Given the description of an element on the screen output the (x, y) to click on. 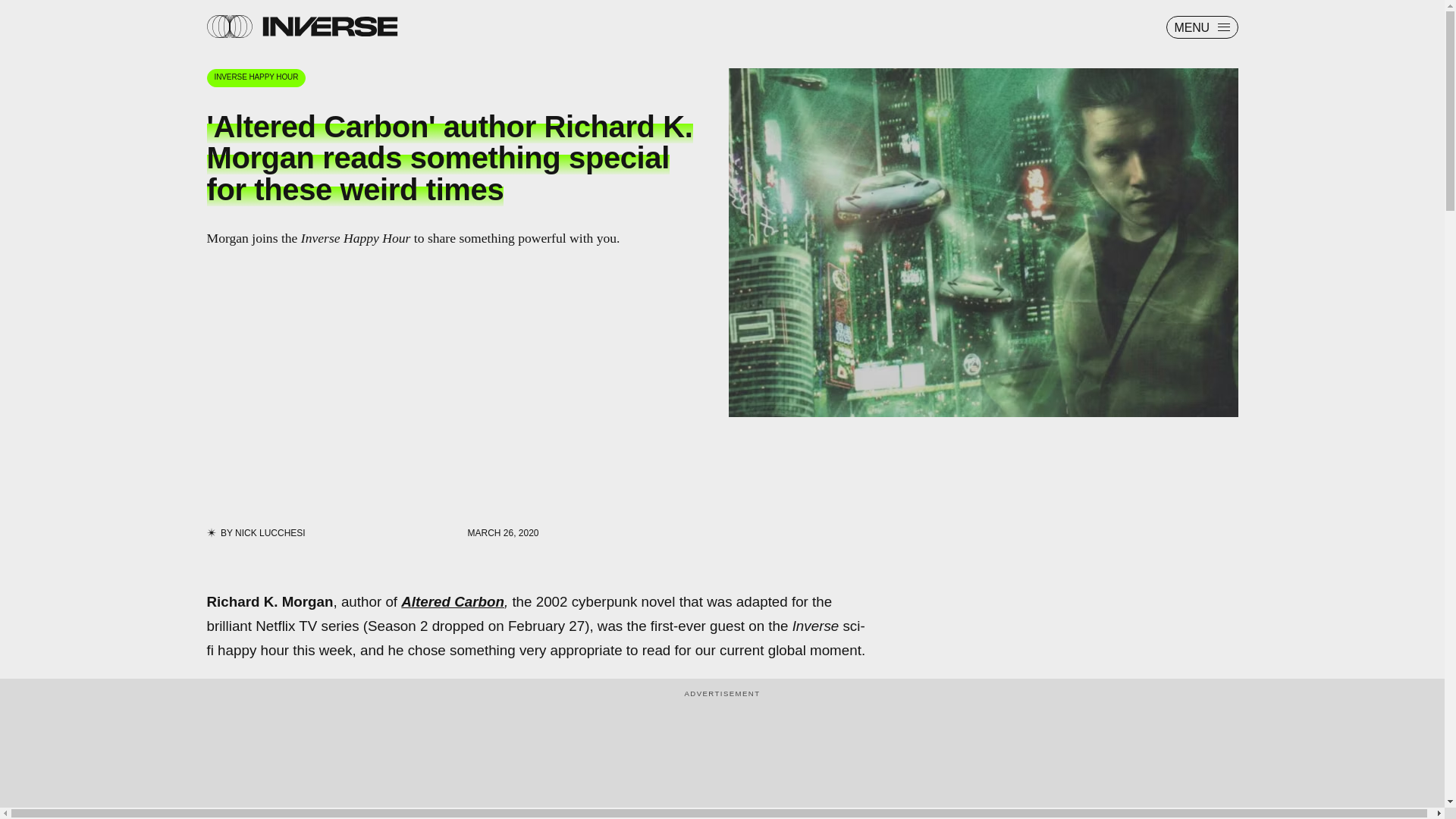
NICK LUCCHESI (269, 532)
Inverse (328, 26)
Altered Carbon (452, 601)
